Given the description of an element on the screen output the (x, y) to click on. 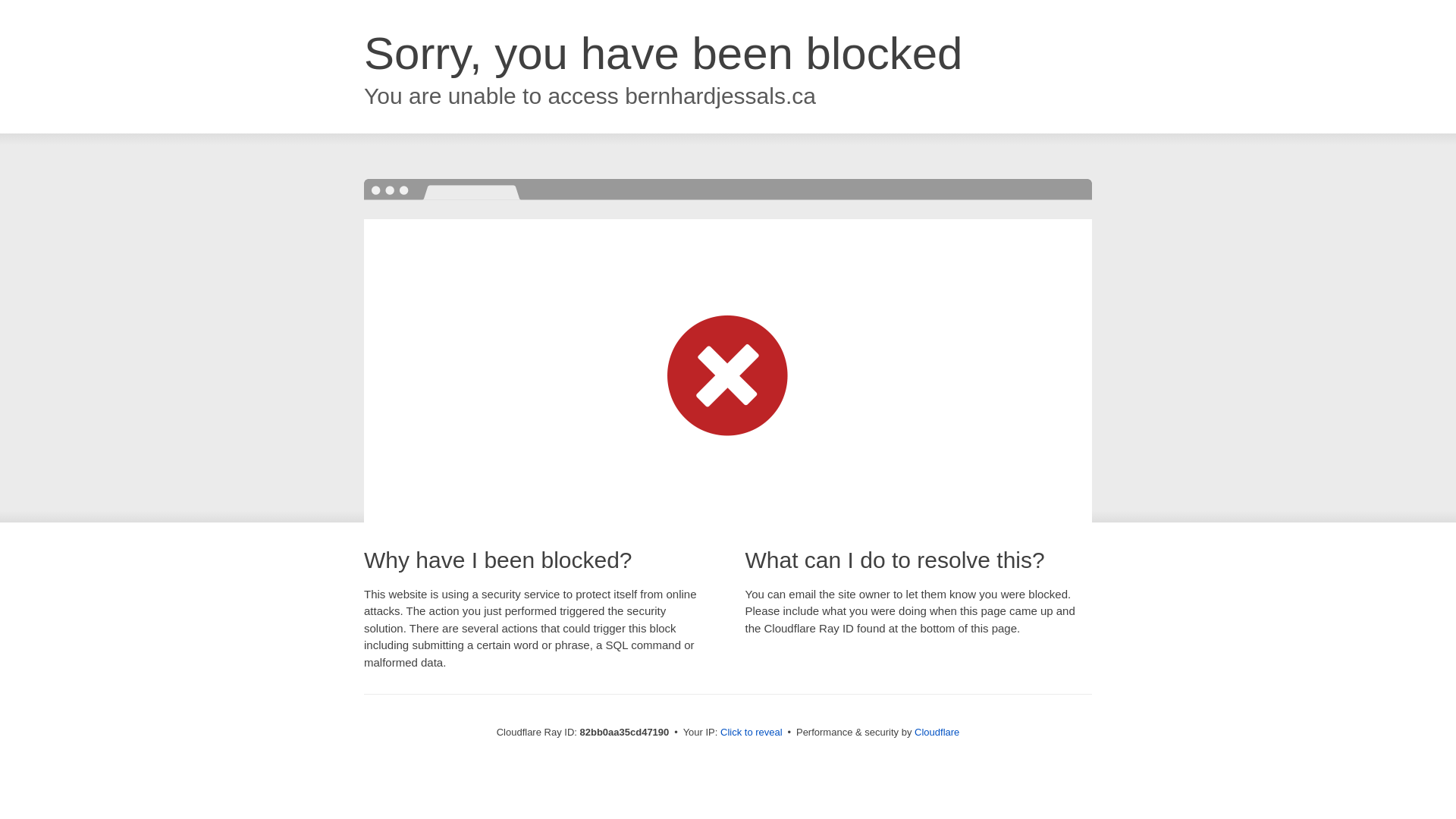
Click to reveal Element type: text (751, 732)
Cloudflare Element type: text (936, 731)
